Given the description of an element on the screen output the (x, y) to click on. 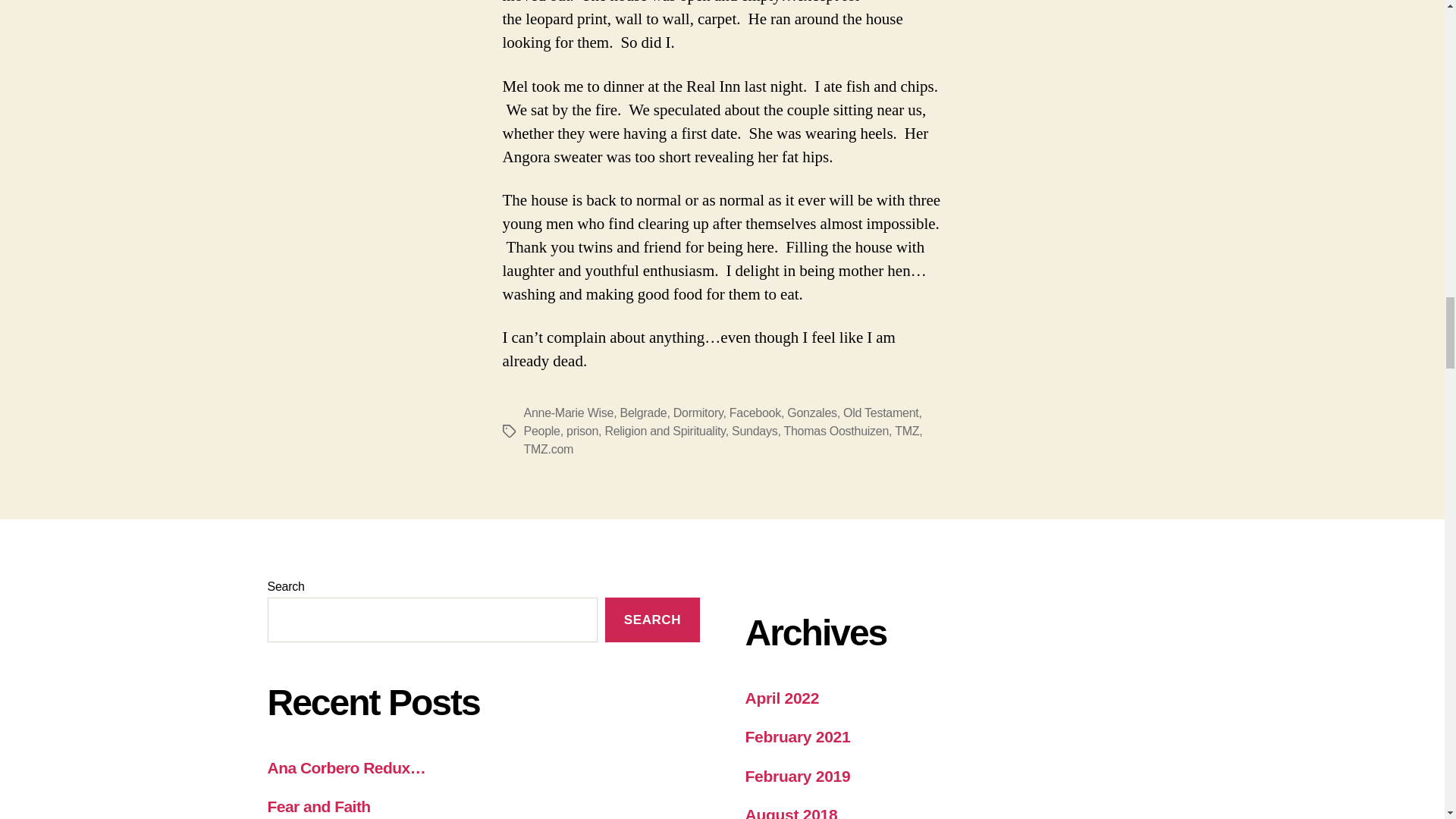
Fear and Faith (317, 805)
Old Testament (880, 412)
SEARCH (651, 619)
TMZ (906, 431)
Belgrade (643, 412)
Gonzales (811, 412)
Thomas Oosthuizen (835, 431)
Facebook (754, 412)
Sundays (754, 431)
Anne-Marie Wise (567, 412)
People (540, 431)
prison (582, 431)
TMZ.com (547, 449)
Dormitory (697, 412)
Religion and Spirituality (664, 431)
